Given the description of an element on the screen output the (x, y) to click on. 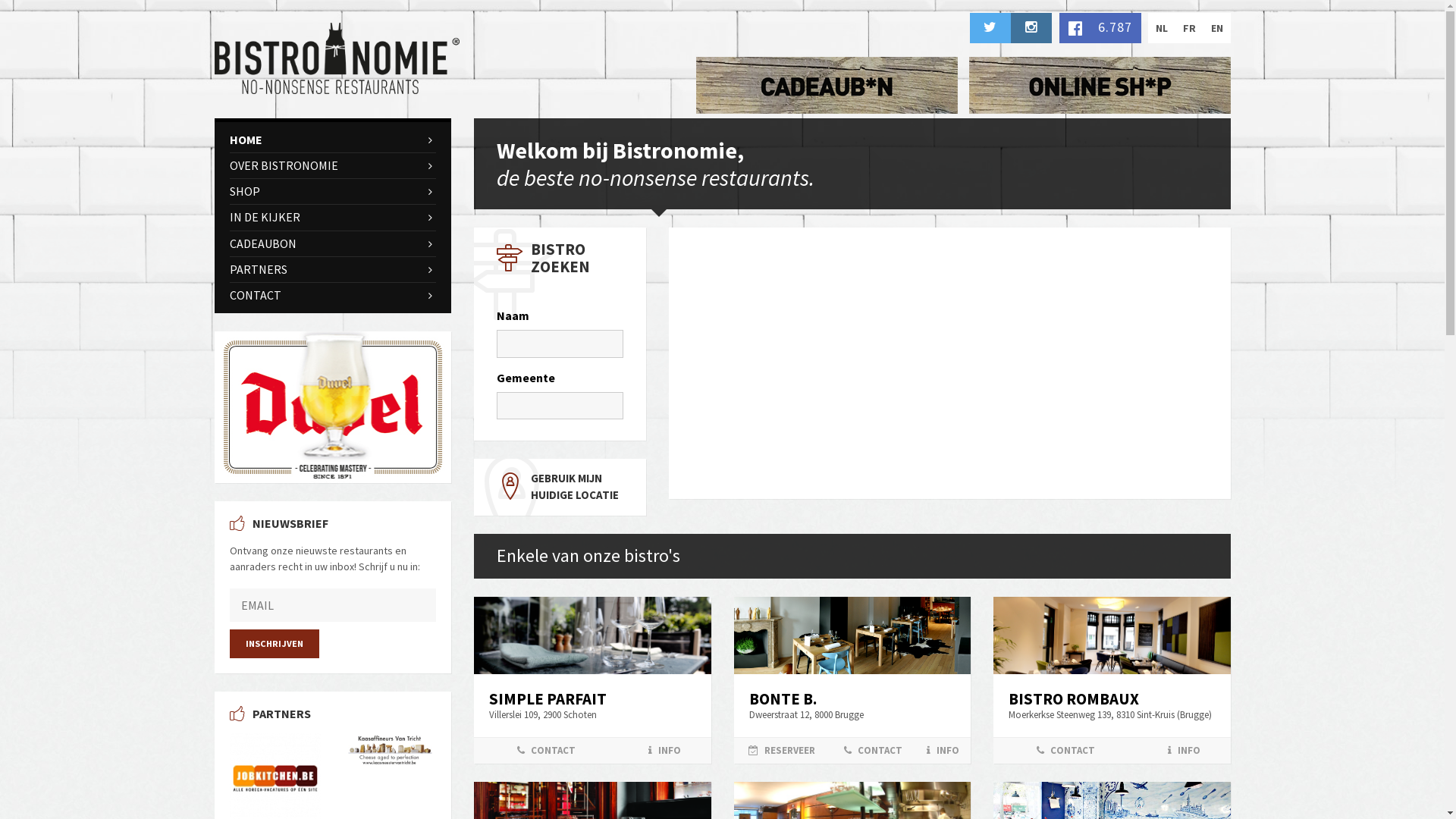
CADEAUBON Element type: text (332, 243)
6.787 Element type: text (1099, 27)
SHOP Element type: text (332, 190)
PARTNERS Element type: text (332, 269)
BONTE B. Element type: text (782, 698)
SIMPLE PARFAIT Element type: text (547, 698)
RESERVEER CONTACT INFO Element type: text (852, 750)
CONTACT Element type: text (332, 294)
BISTRO ROMBAUX Element type: text (1073, 698)
NL Element type: text (1161, 27)
INSCHRIJVEN Element type: text (273, 643)
FR Element type: text (1189, 27)
OVER BISTRONOMIE Element type: text (332, 165)
EN Element type: text (1216, 27)
CONTACT INFO Element type: text (592, 750)
CONTACT INFO Element type: text (1111, 750)
HOME Element type: text (332, 139)
IN DE KIJKER Element type: text (332, 216)
